Given the description of an element on the screen output the (x, y) to click on. 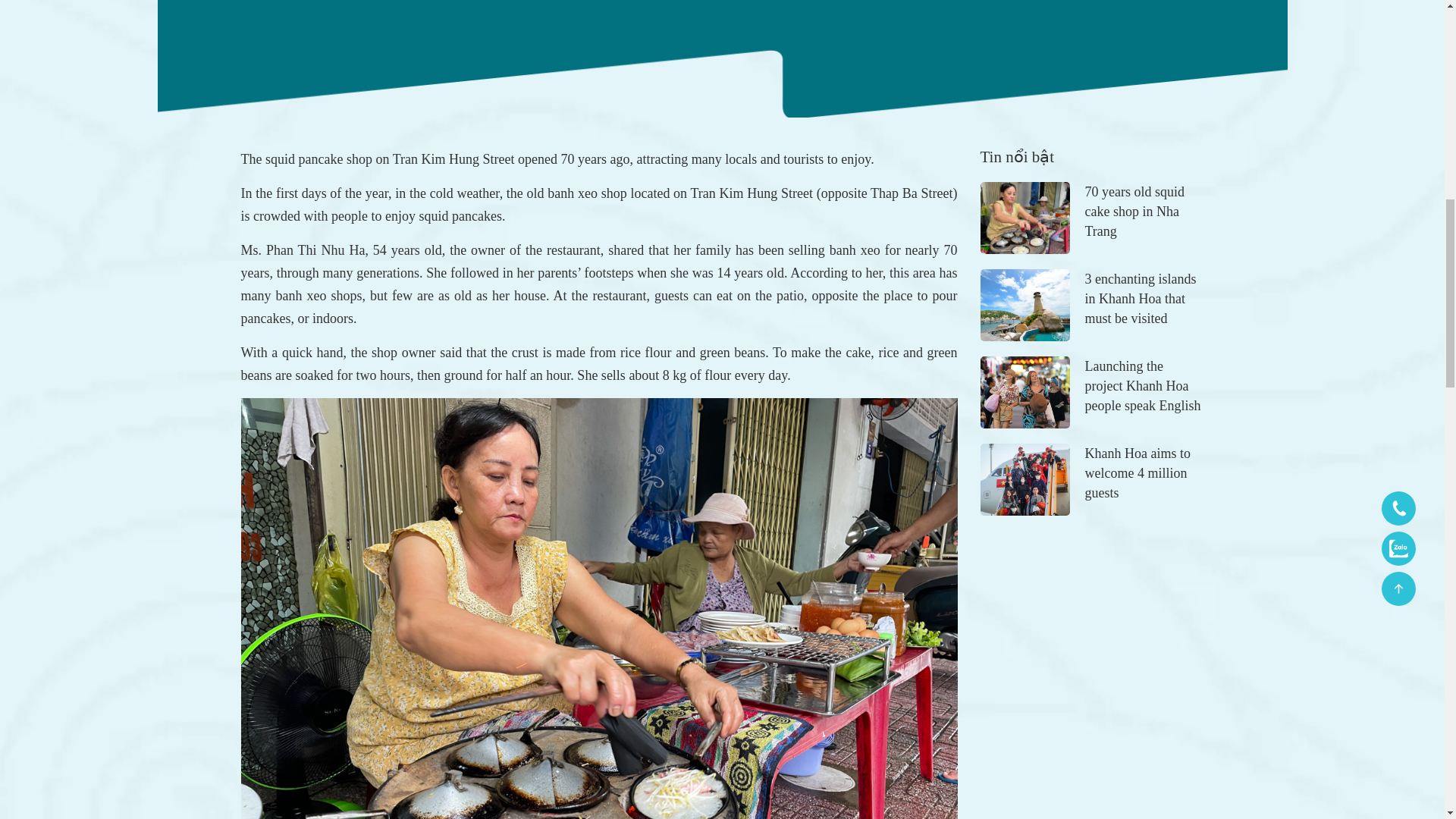
70 years old squid cake shop in Nha Trang (1091, 217)
Khanh Hoa aims to welcome 4 million guests (1091, 479)
Launching the project Khanh Hoa people speak English (1091, 392)
3 enchanting islands in Khanh Hoa that must be visited (1091, 305)
